Given the description of an element on the screen output the (x, y) to click on. 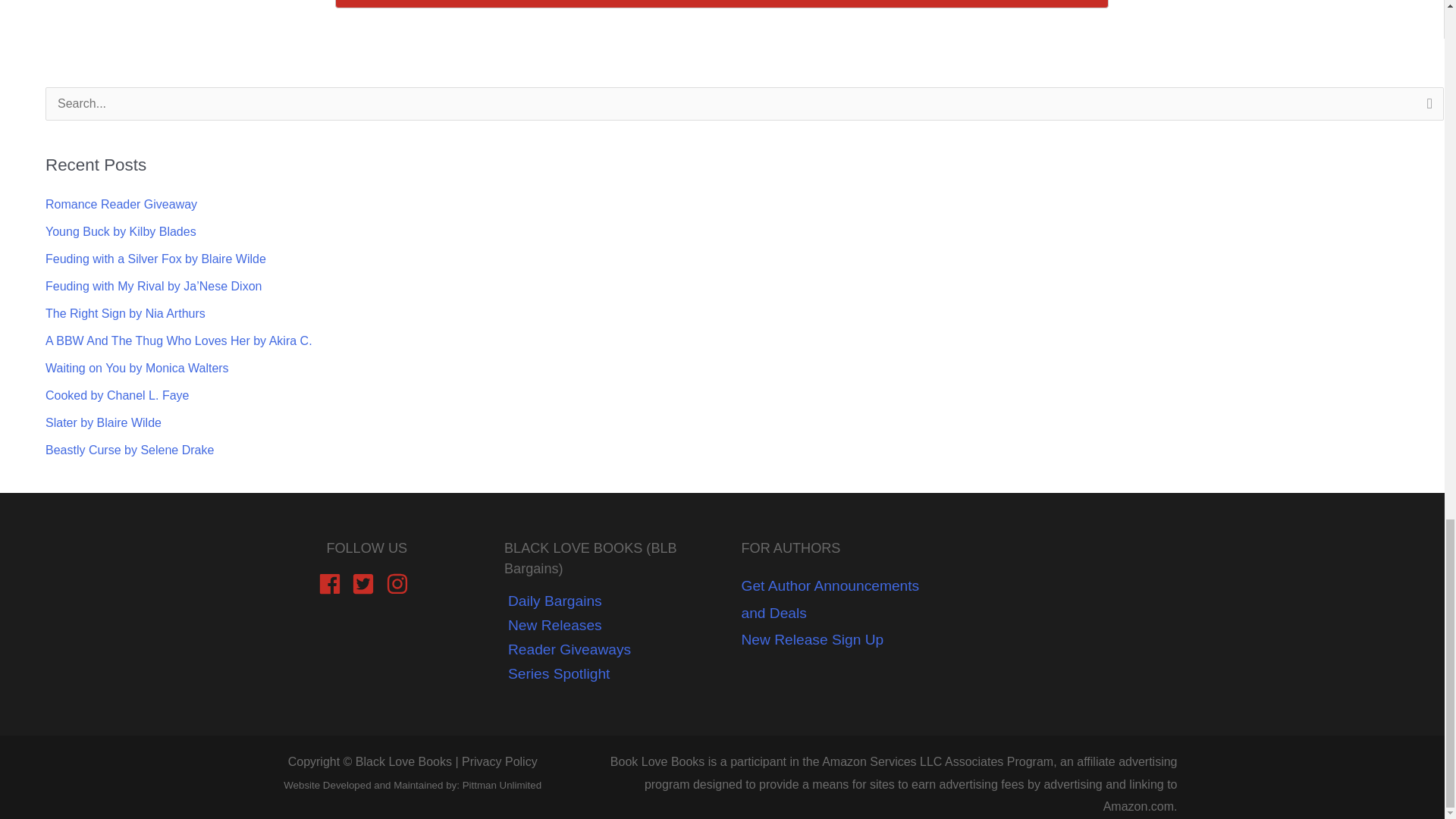
Daily Bargains (552, 600)
New Release Sign Up (812, 639)
Series Spotlight (556, 673)
Waiting on You by Monica Walters (136, 367)
Cooked by Chanel L. Faye (117, 395)
Slater by Blaire Wilde (103, 422)
New Releases (552, 625)
Pittman Unlimited (502, 785)
The Right Sign by Nia Arthurs (125, 313)
A BBW And The Thug Who Loves Her by Akira C. (179, 340)
Beastly Curse by Selene Drake (129, 449)
Young Buck by Kilby Blades (120, 231)
Reader Giveaways (566, 649)
Feuding with a Silver Fox by Blaire Wilde (155, 258)
